Given the description of an element on the screen output the (x, y) to click on. 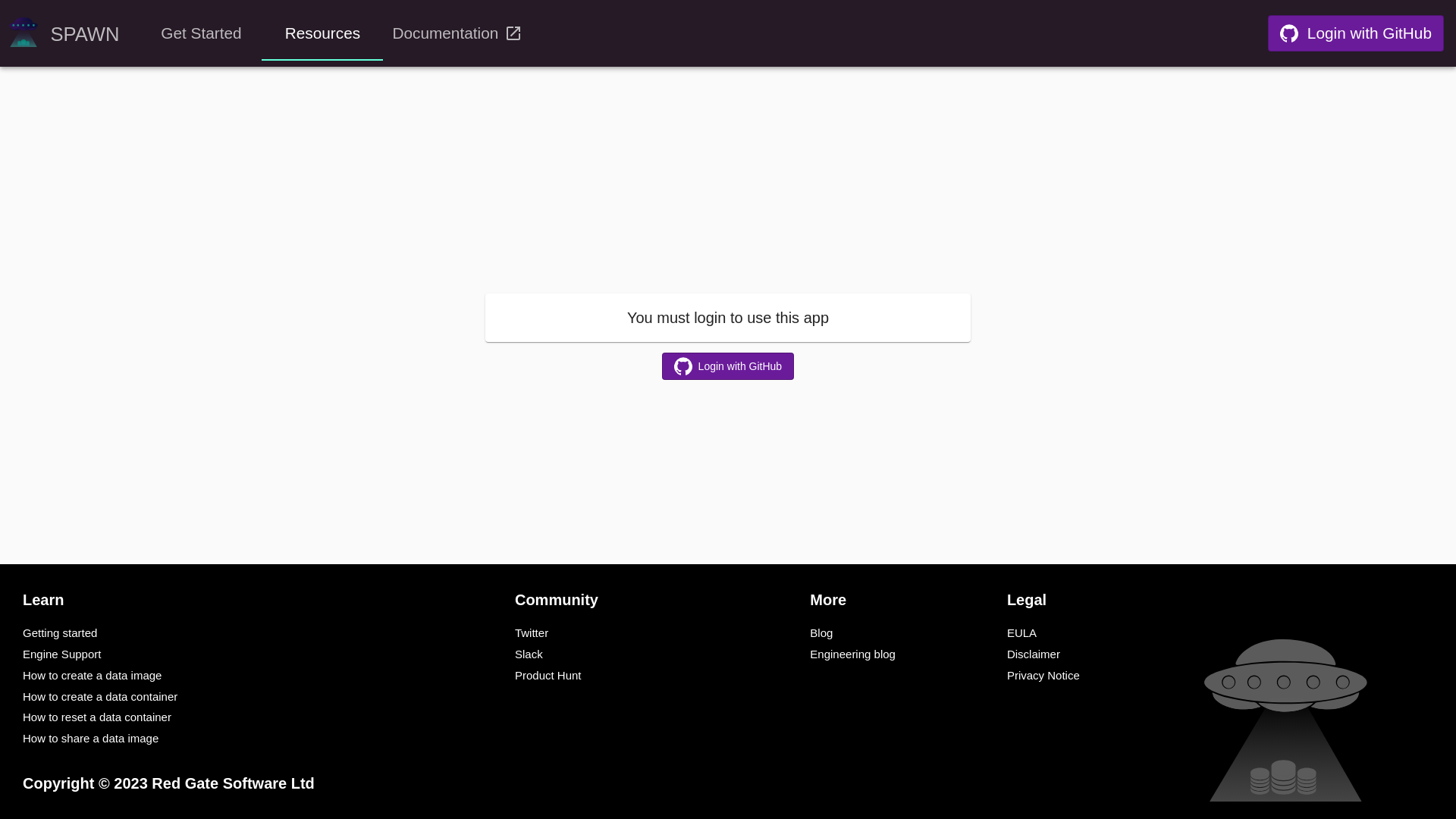
EULA Element type: text (1021, 632)
Product Hunt Element type: text (547, 674)
  Login with GitHub Element type: text (1355, 33)
How to share a data image Element type: text (90, 737)
Get Started Element type: text (200, 33)
How to reset a data container Element type: text (96, 716)
SPAWN Element type: text (64, 33)
How to create a data container Element type: text (99, 696)
Resources Element type: text (321, 33)
Blog Element type: text (820, 632)
Slack Element type: text (528, 653)
  Login with GitHub Element type: text (727, 366)
Privacy Notice Element type: text (1043, 674)
Twitter Element type: text (531, 632)
Engine Support Element type: text (61, 653)
How to create a data image Element type: text (91, 674)
Documentation Element type: text (459, 33)
Getting started Element type: text (59, 632)
Disclaimer Element type: text (1033, 653)
Engineering blog Element type: text (852, 653)
